Given the description of an element on the screen output the (x, y) to click on. 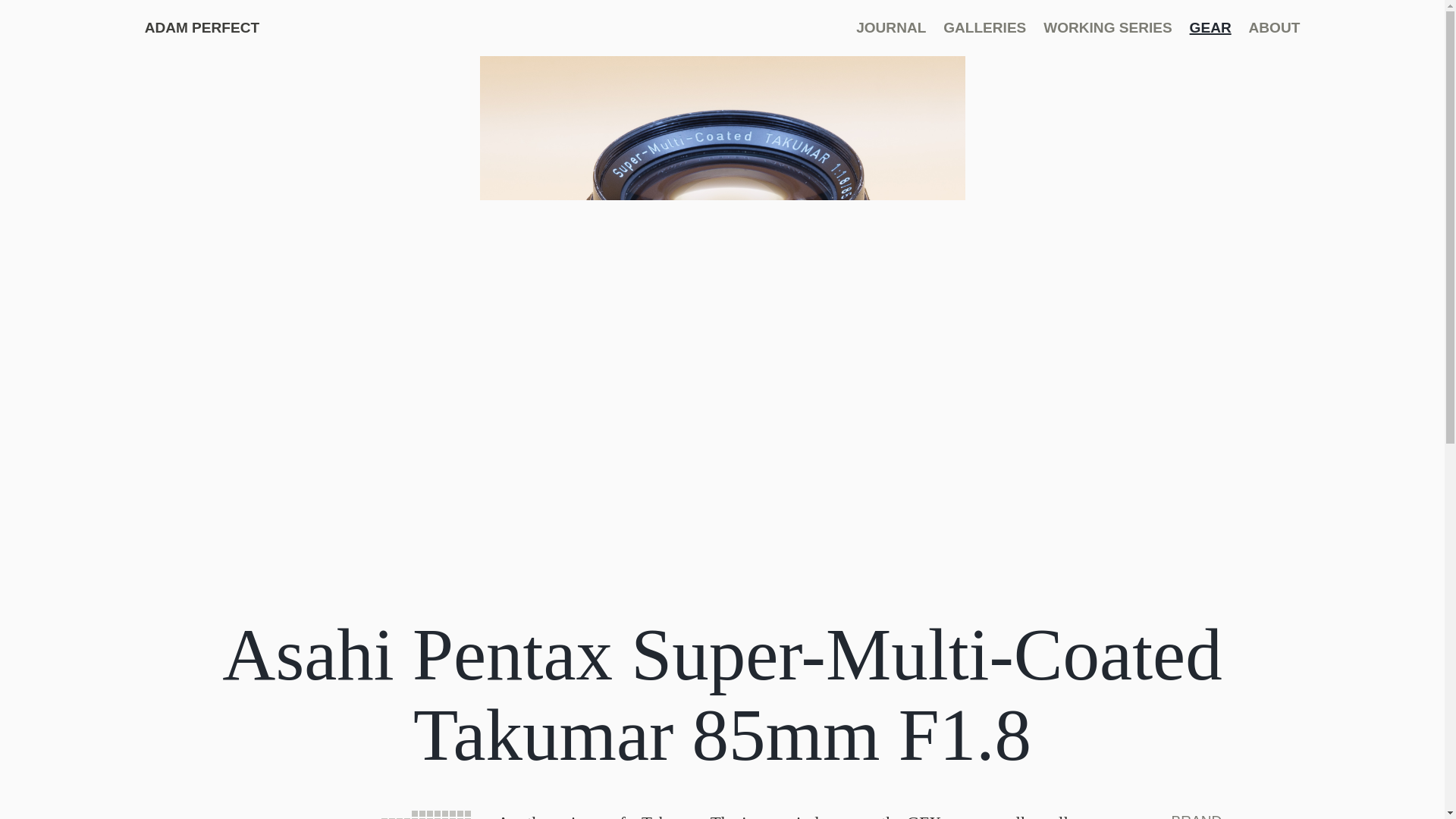
GEAR (1210, 27)
ABOUT (1274, 27)
JOURNAL (891, 27)
ADAM PERFECT (201, 27)
GALLERIES (984, 27)
WORKING SERIES (1107, 27)
